Given the description of an element on the screen output the (x, y) to click on. 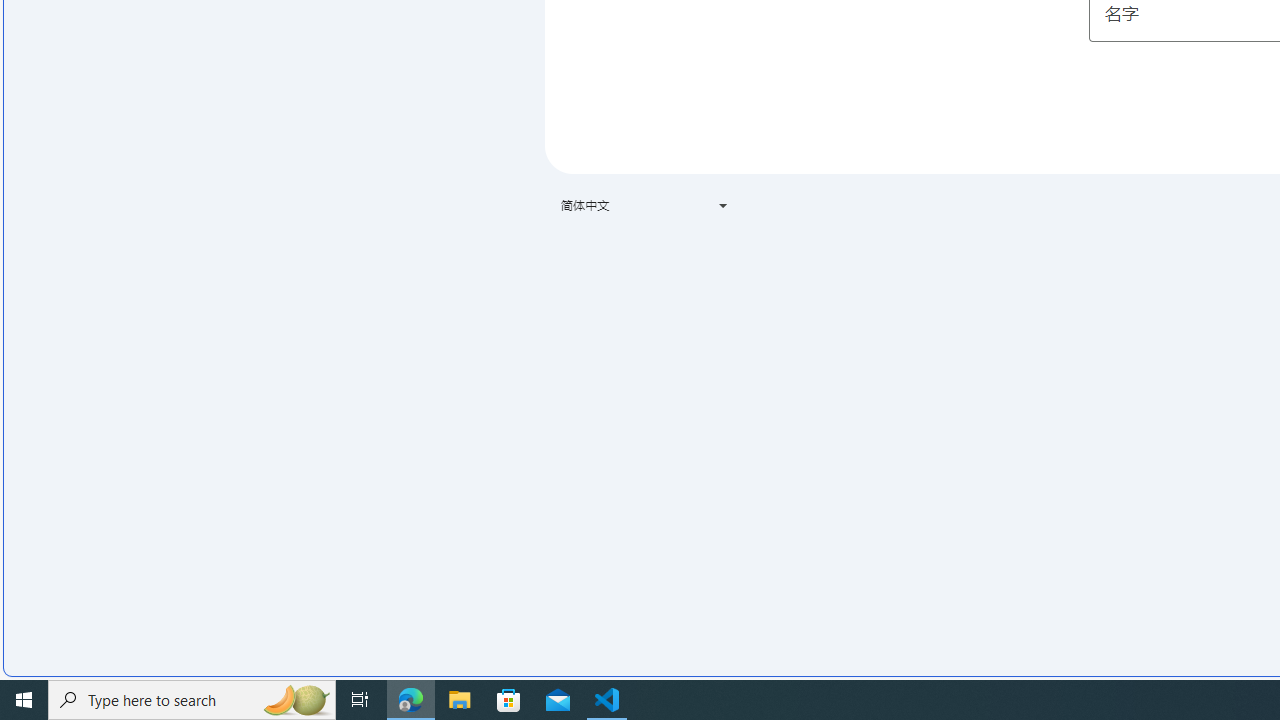
Class: VfPpkd-t08AT-Bz112c-Bd00G (723, 205)
